Given the description of an element on the screen output the (x, y) to click on. 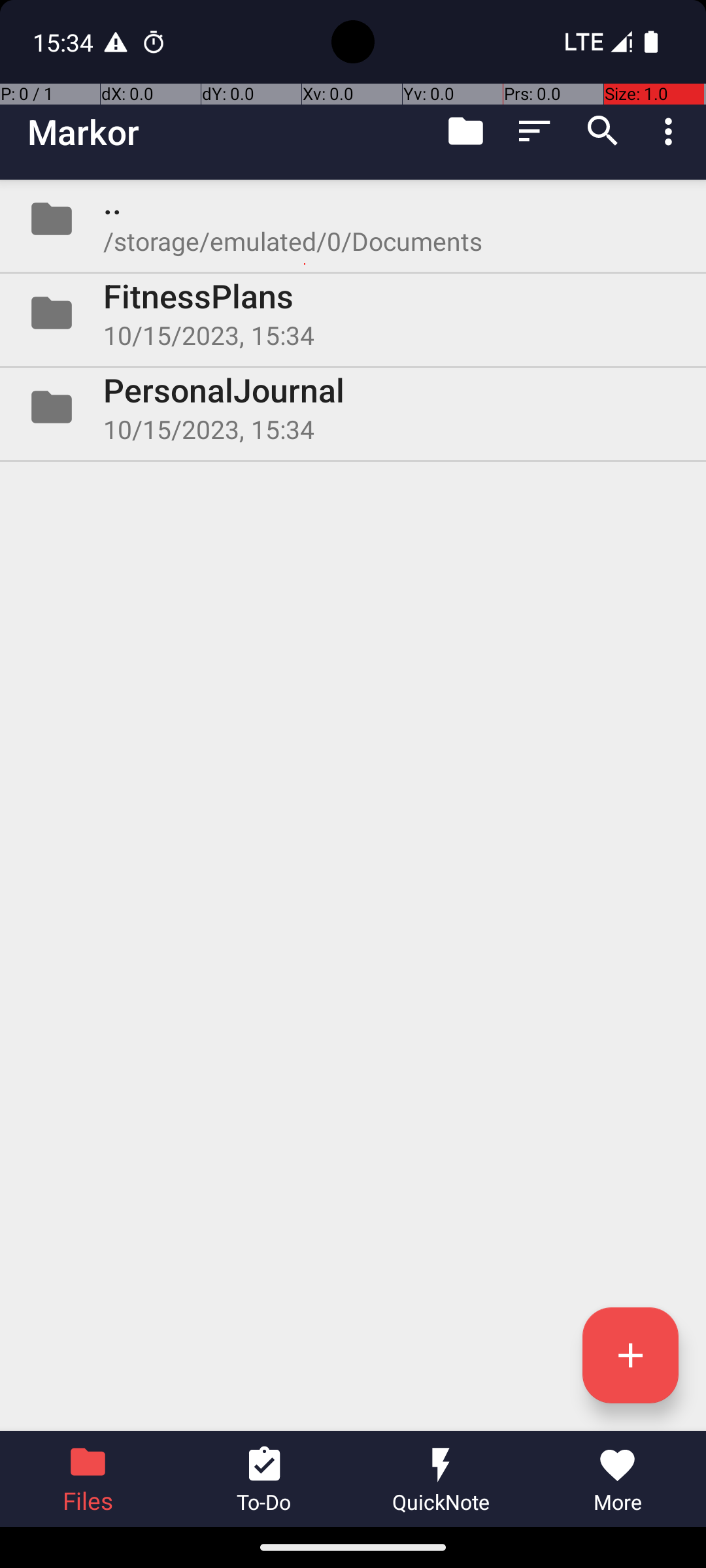
Folder FitnessPlans  Element type: android.widget.LinearLayout (353, 312)
Folder PersonalJournal  Element type: android.widget.LinearLayout (353, 406)
